Given the description of an element on the screen output the (x, y) to click on. 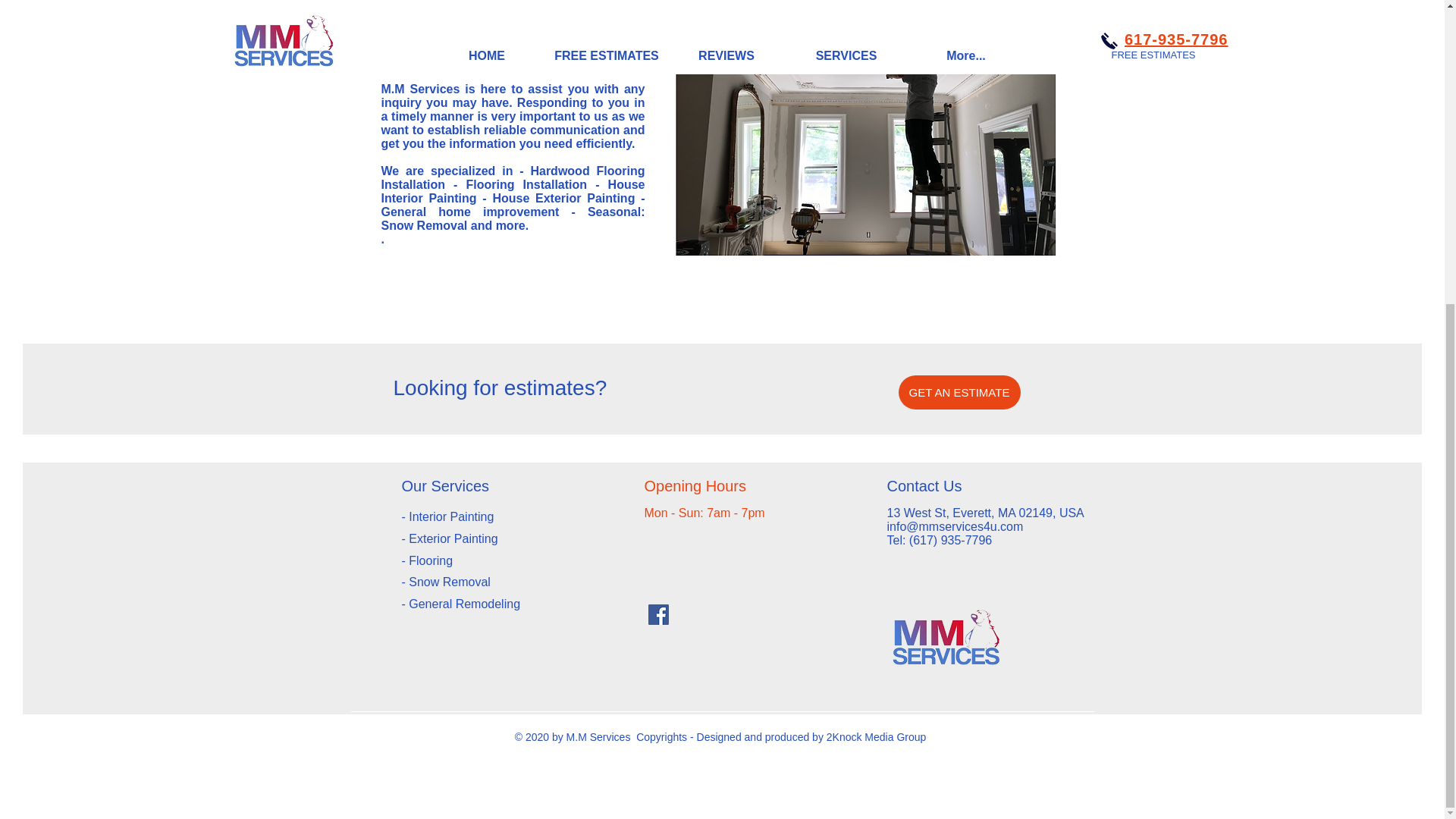
- General Remodeling  (462, 603)
GET AN ESTIMATE (959, 392)
- Exterior Painting (449, 538)
- Interior Painting (448, 516)
- Flooring  (429, 560)
- Snow Removal (445, 581)
